Given the description of an element on the screen output the (x, y) to click on. 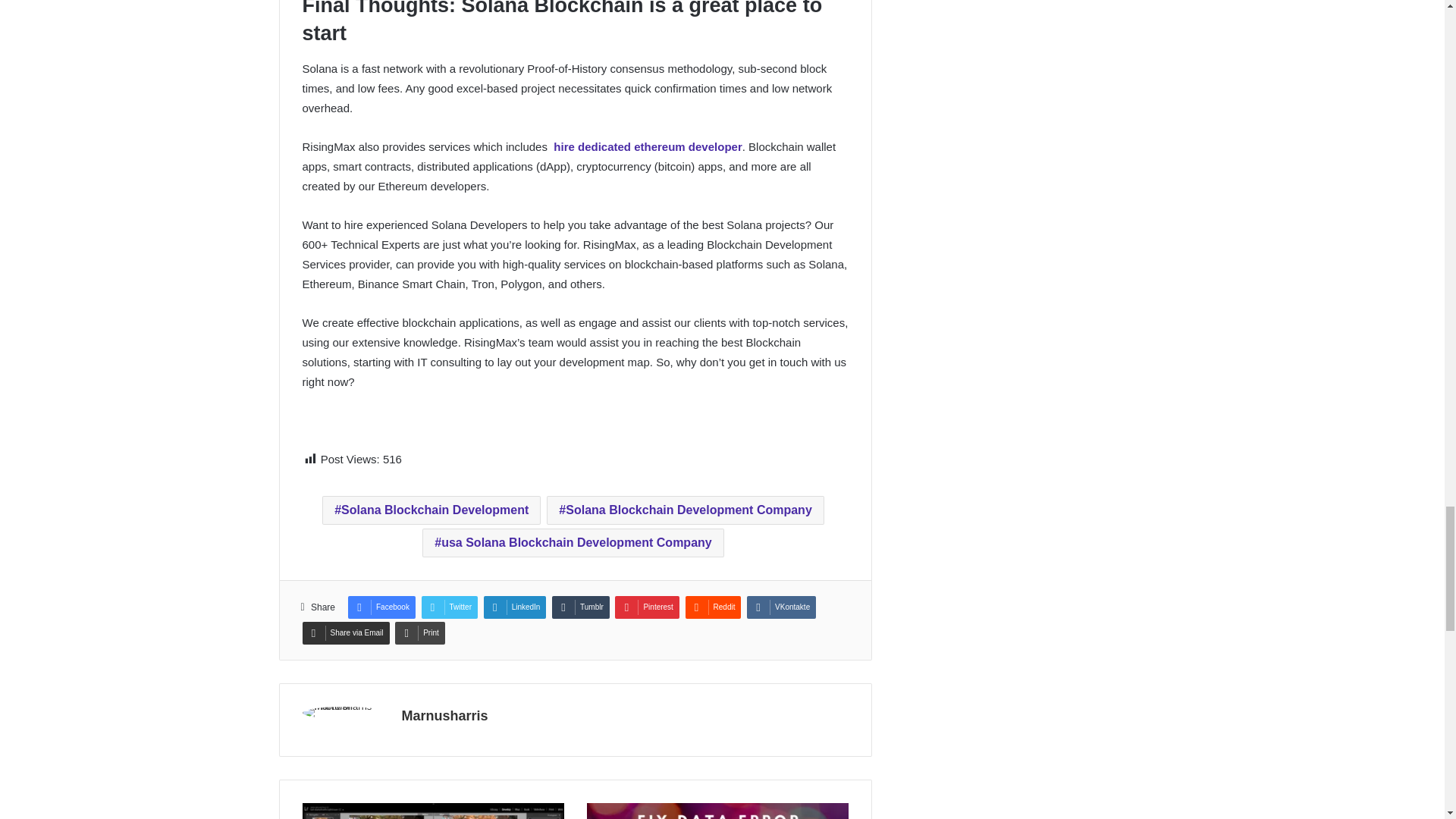
Solana Blockchain Development Company (685, 510)
hire dedicated ethereum developer (647, 146)
usa Solana Blockchain Development Company (572, 542)
Solana Blockchain Development (430, 510)
